Given the description of an element on the screen output the (x, y) to click on. 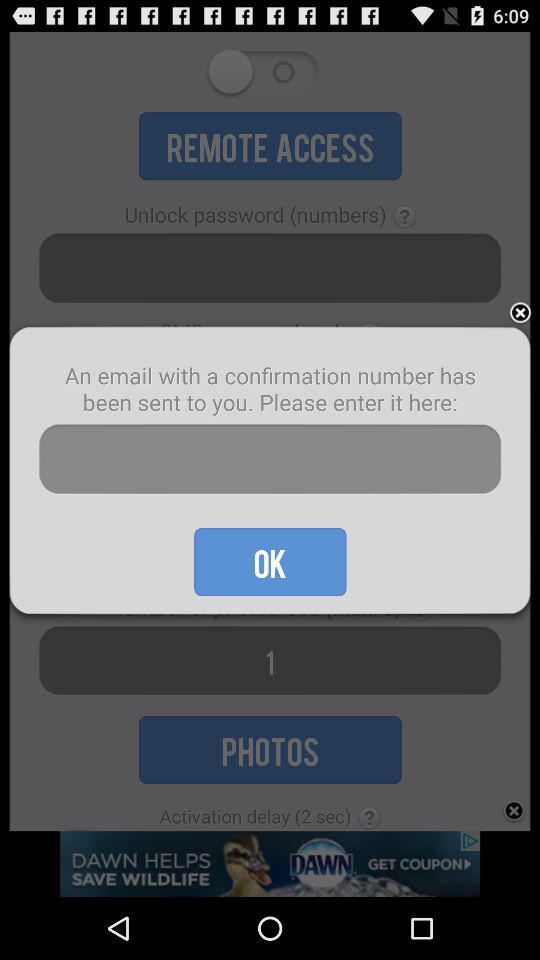
launch the ok icon (270, 562)
